Given the description of an element on the screen output the (x, y) to click on. 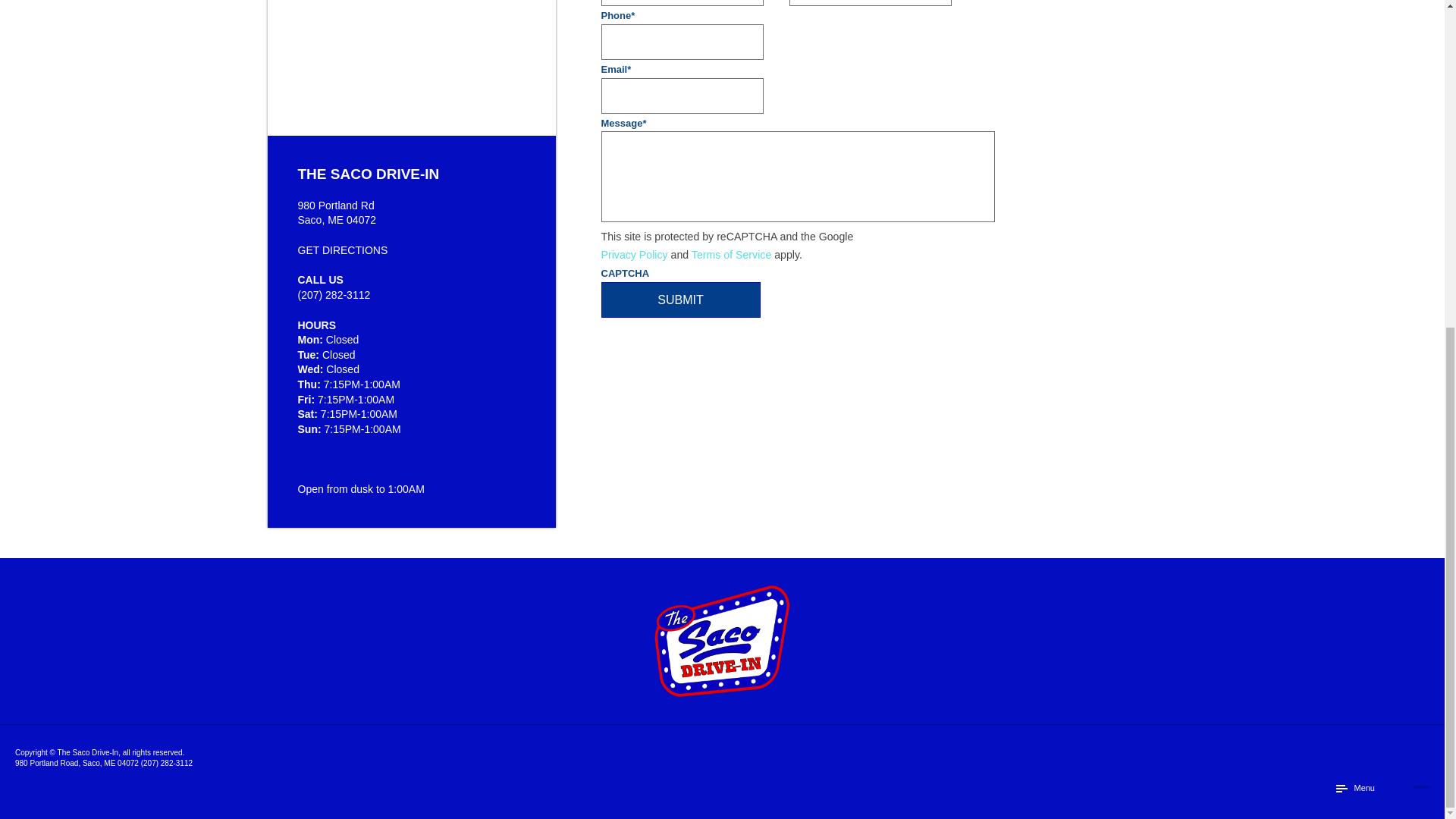
Privacy Policy (632, 254)
GET DIRECTIONS (342, 250)
Submit (679, 299)
Terms of Service (731, 254)
Submit (679, 299)
